Given the description of an element on the screen output the (x, y) to click on. 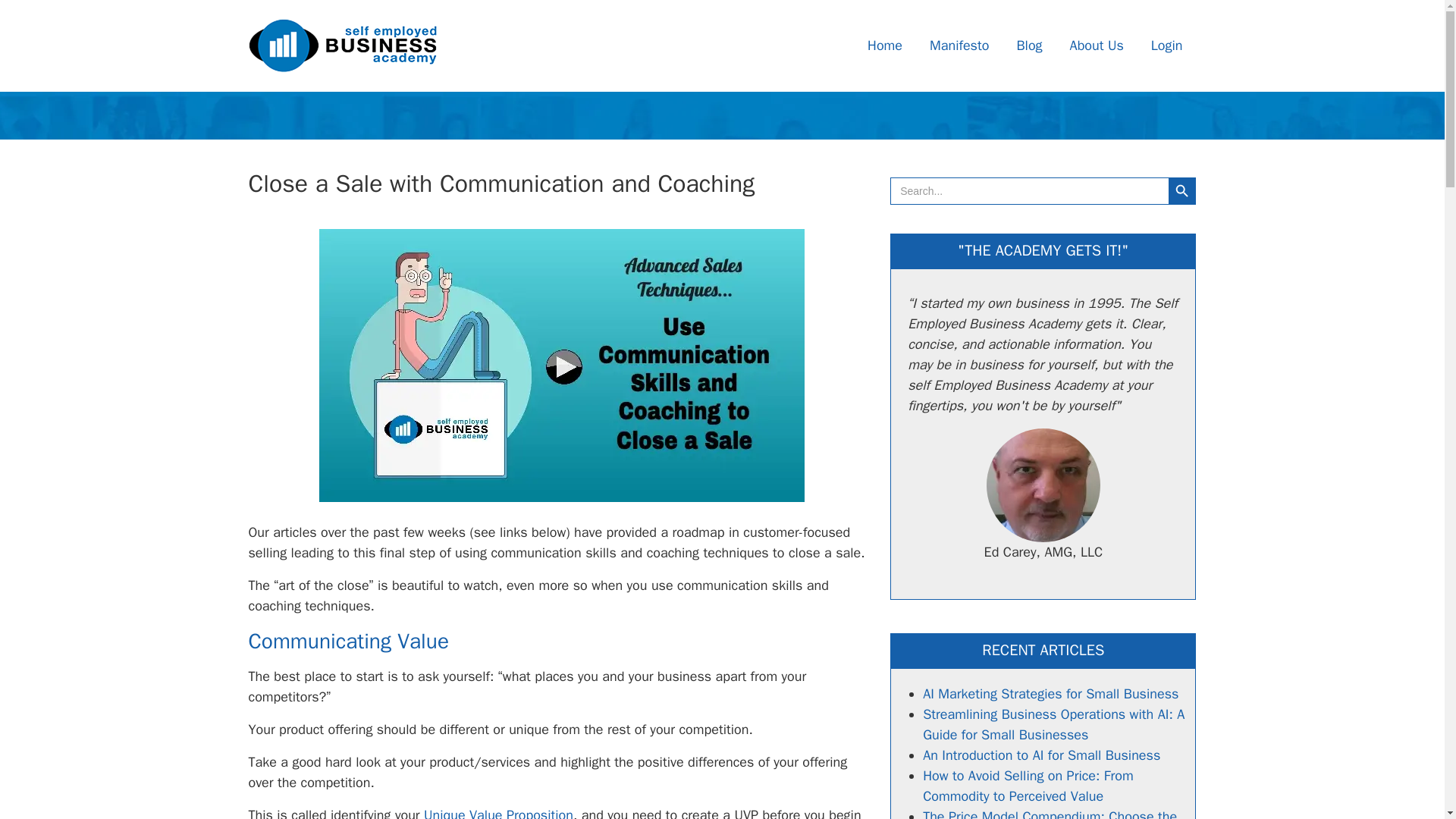
About Us (1096, 45)
Home (884, 45)
Search Button (1182, 190)
Unique Value Proposition (498, 812)
AI Marketing Strategies for Small Business (1050, 693)
An Introduction to AI for Small Business (1041, 754)
Blog (1029, 45)
